Given the description of an element on the screen output the (x, y) to click on. 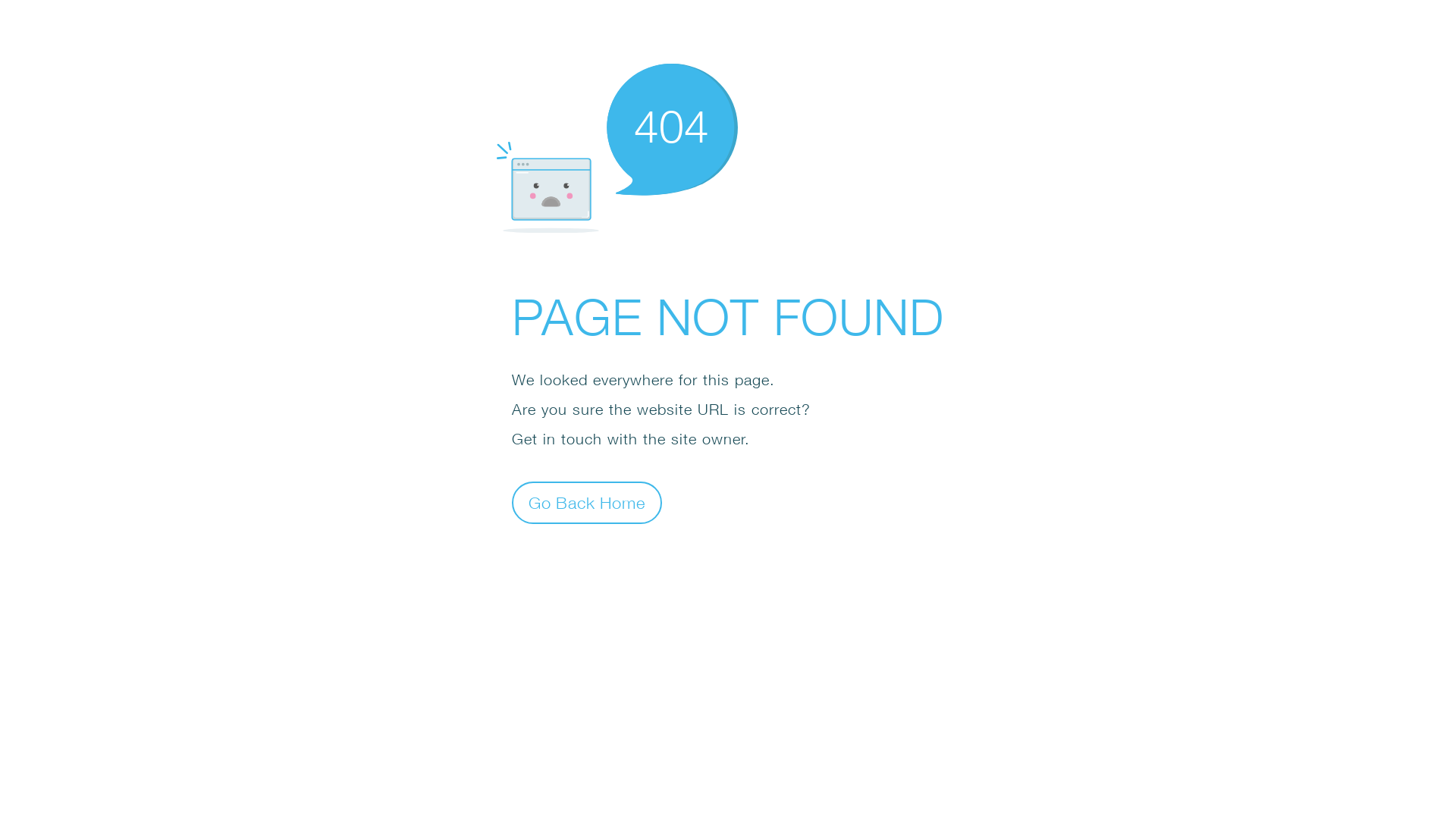
Go Back Home Element type: text (586, 502)
